Given the description of an element on the screen output the (x, y) to click on. 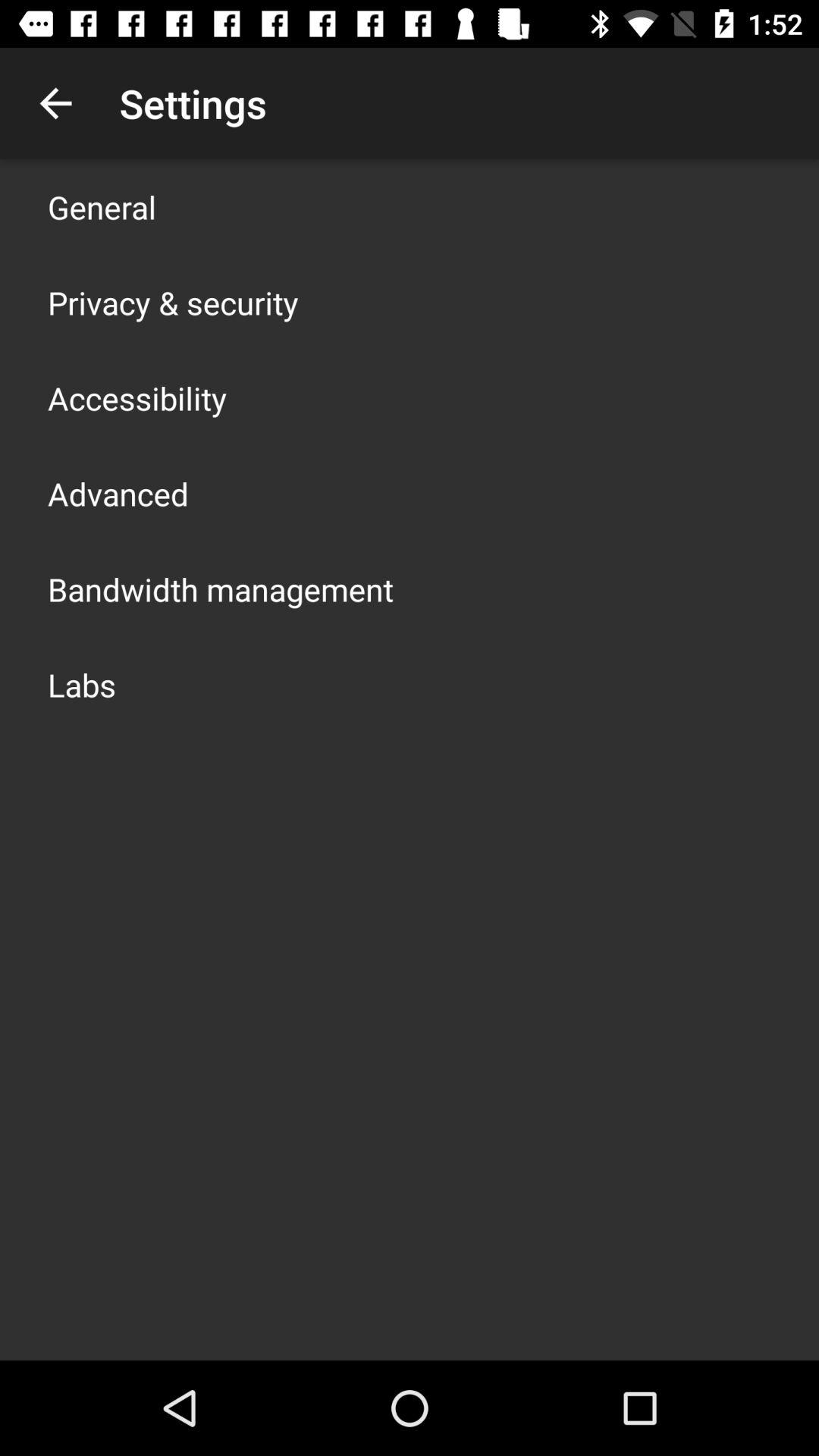
swipe to bandwidth management (220, 588)
